Given the description of an element on the screen output the (x, y) to click on. 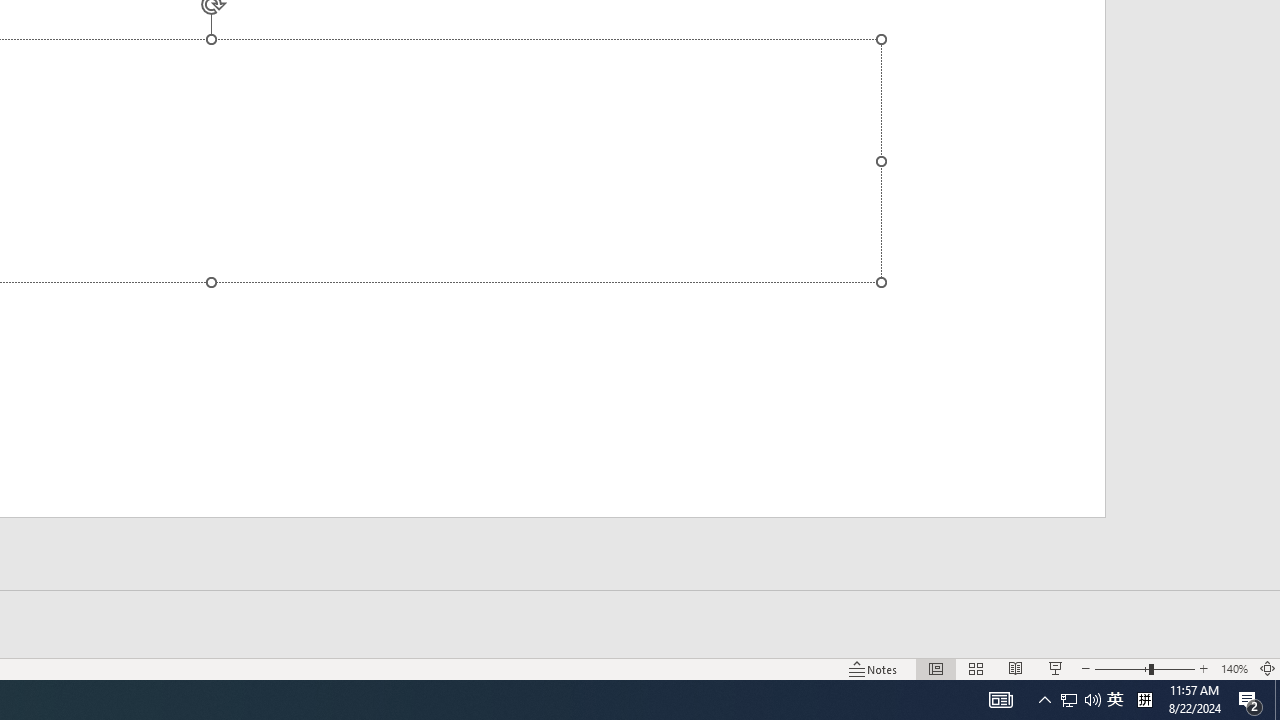
Zoom 140% (1234, 668)
